Given the description of an element on the screen output the (x, y) to click on. 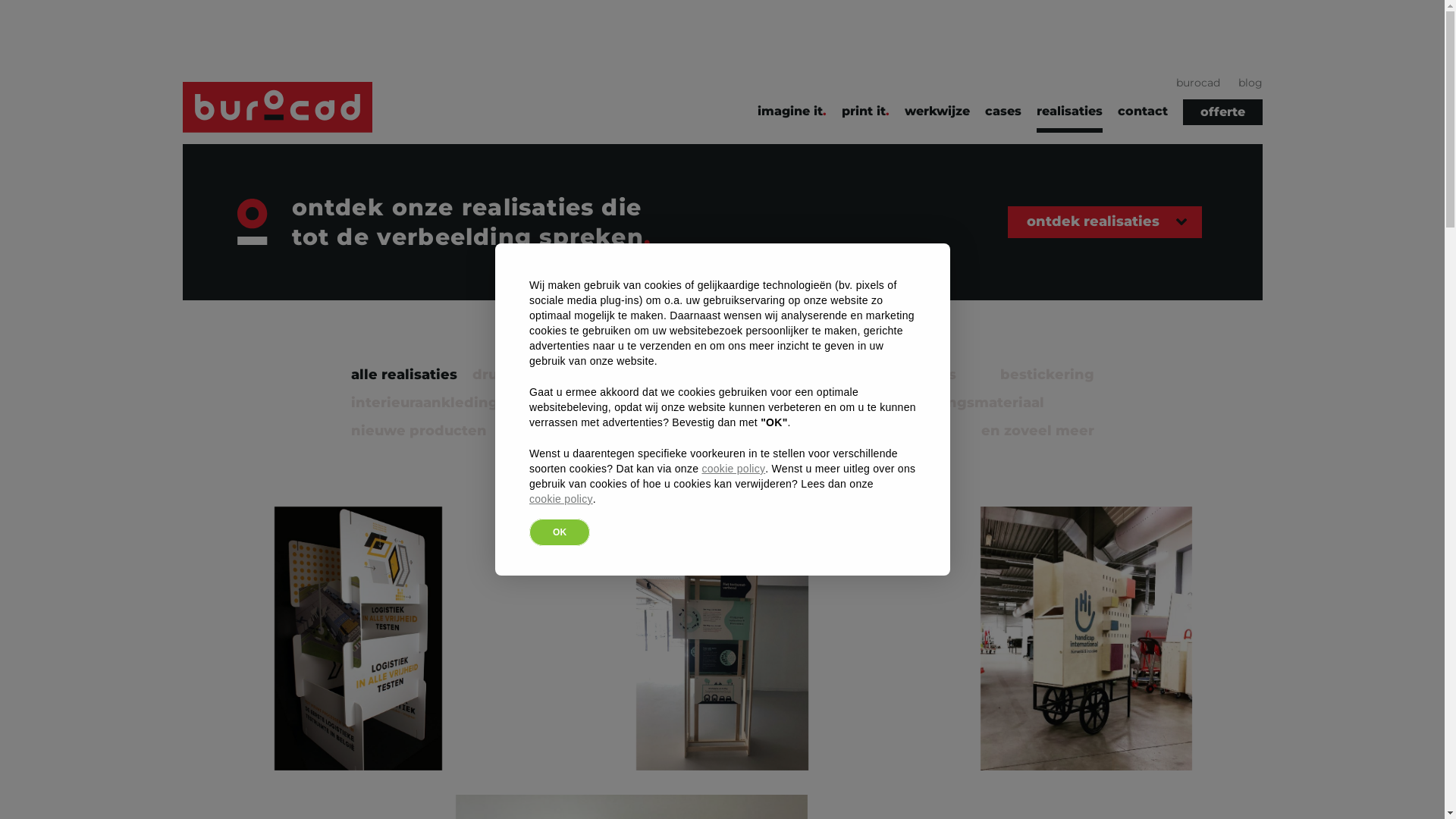
werkwijze Element type: text (936, 115)
cookie policy Element type: text (561, 498)
burocad Element type: text (1197, 82)
blog Element type: text (1249, 82)
offerte Element type: text (1222, 112)
Burocad Element type: hover (276, 106)
realisaties Element type: text (1069, 115)
ontdek realisaties Element type: text (1104, 222)
cookie policy Element type: text (733, 468)
imagine it Element type: text (791, 115)
cases Element type: text (1003, 115)
contact Element type: text (1142, 115)
print it Element type: text (865, 115)
